Given the description of an element on the screen output the (x, y) to click on. 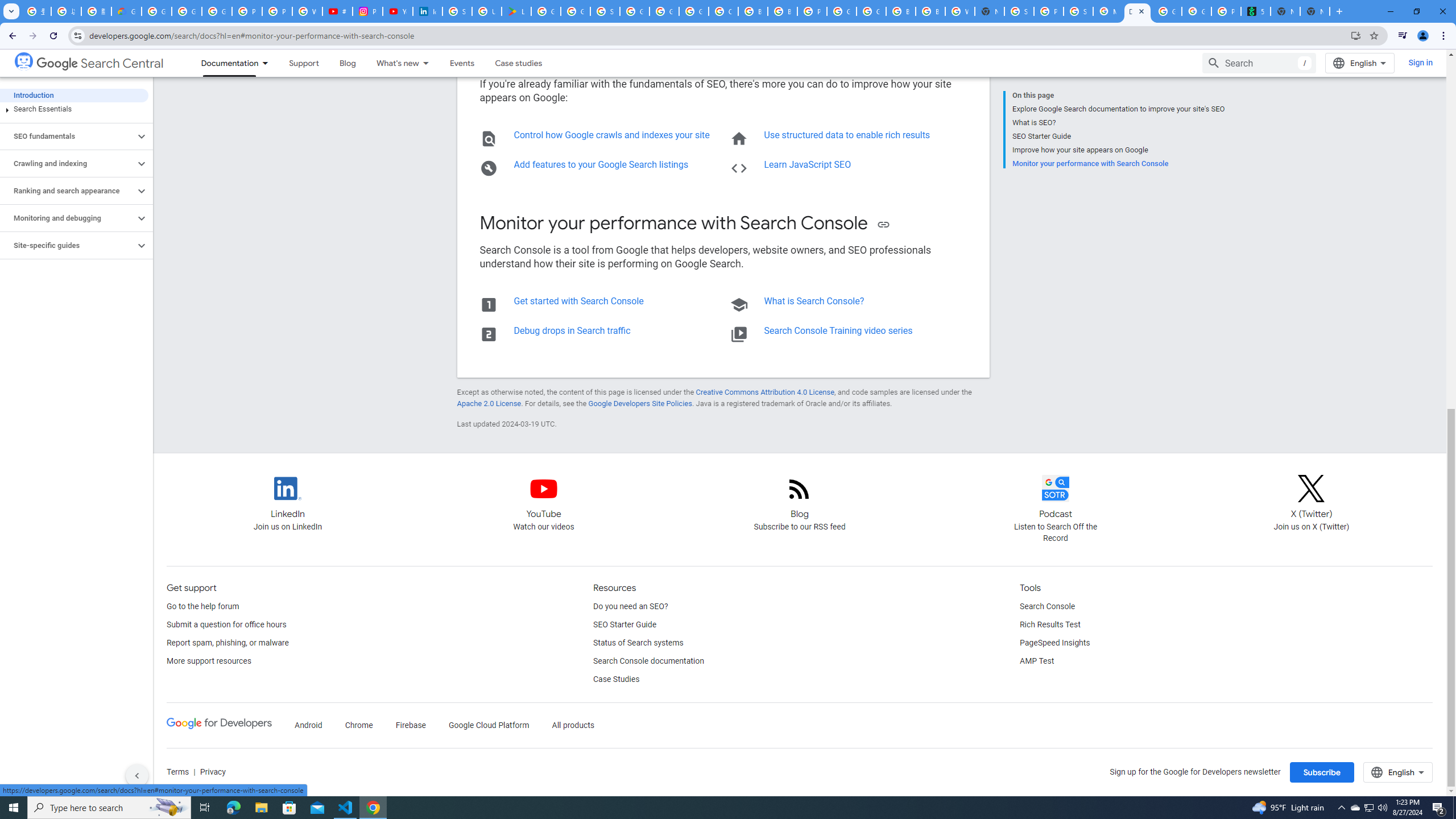
Debug drops in Search traffic (571, 330)
Search Essentials (74, 109)
Monitor your performance with Search Console (1117, 162)
Subscribe (1322, 772)
Dropdown menu for What's new (429, 62)
RSS feed for the Search Central Blog (799, 498)
Google Developers (218, 725)
Privacy Help Center - Policies Help (277, 11)
